Given the description of an element on the screen output the (x, y) to click on. 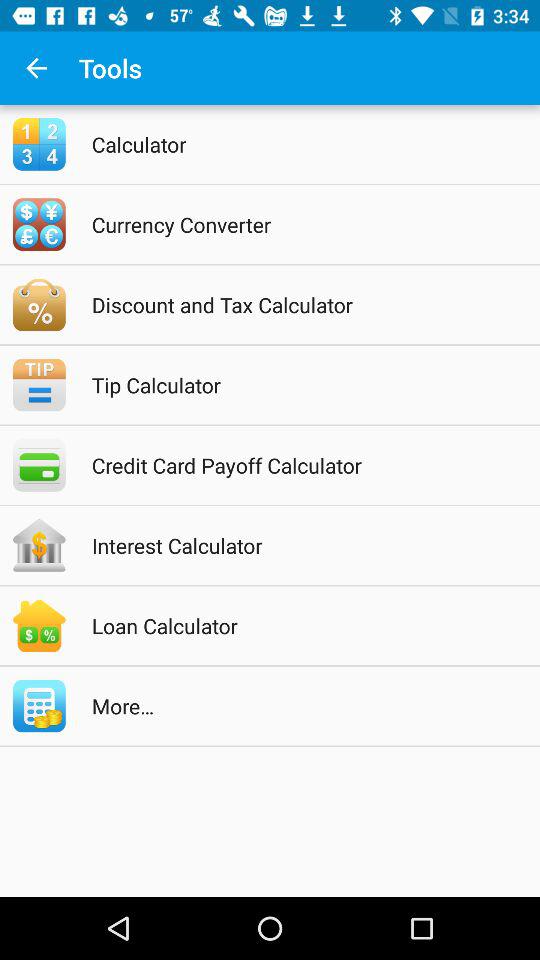
jump until the loan calculator icon (295, 625)
